Given the description of an element on the screen output the (x, y) to click on. 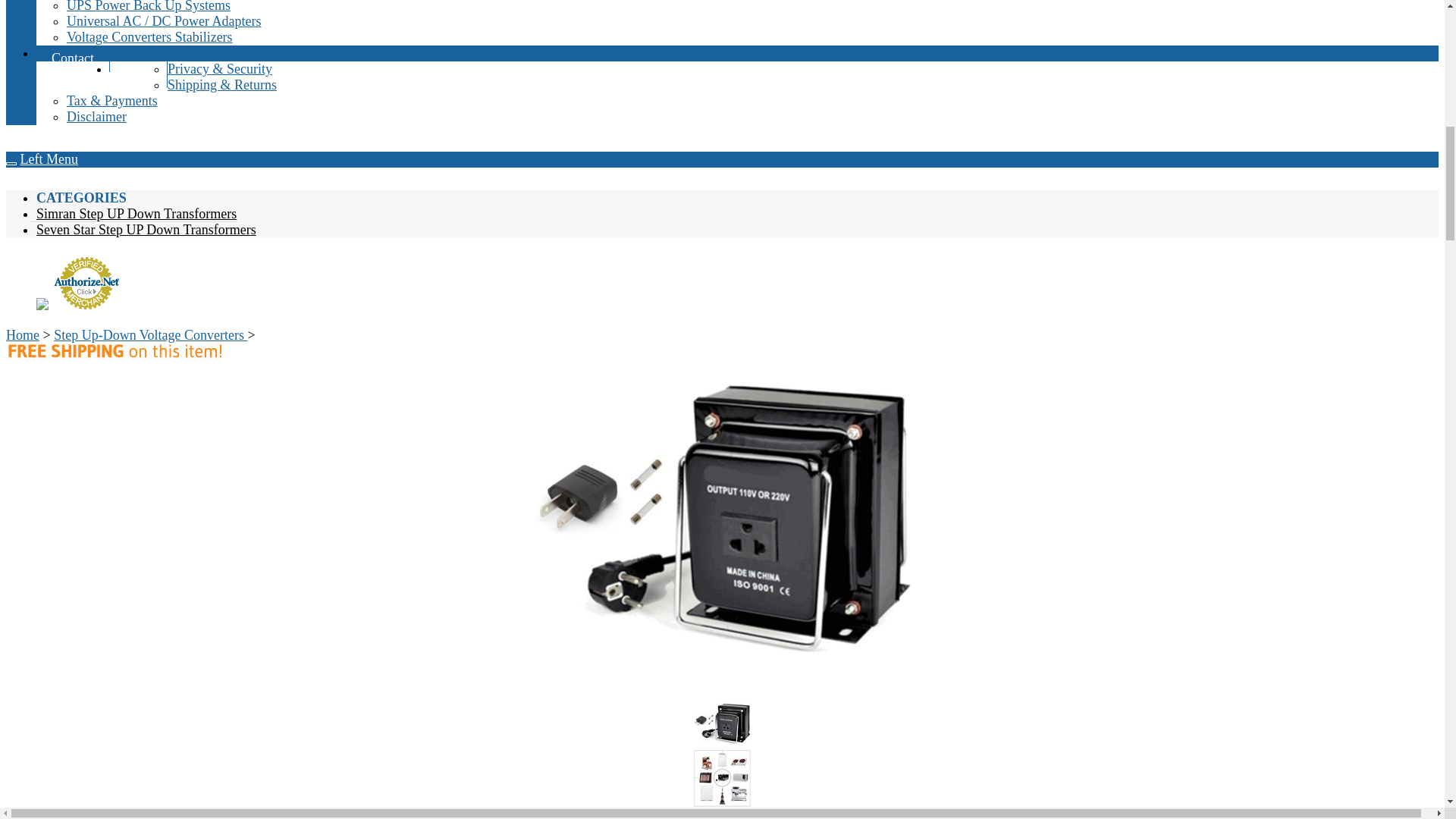
Voltage Converters Stabilizers (149, 37)
UPS Power Back Up Systems (148, 6)
Contact (73, 58)
Home (22, 335)
Help (138, 74)
Left Menu (48, 159)
Simran Step UP Down Transformers (132, 213)
Seven Star Step UP Down Transformers (143, 229)
Disclaimer (96, 116)
Step Up-Down Voltage Converters (150, 335)
